Given the description of an element on the screen output the (x, y) to click on. 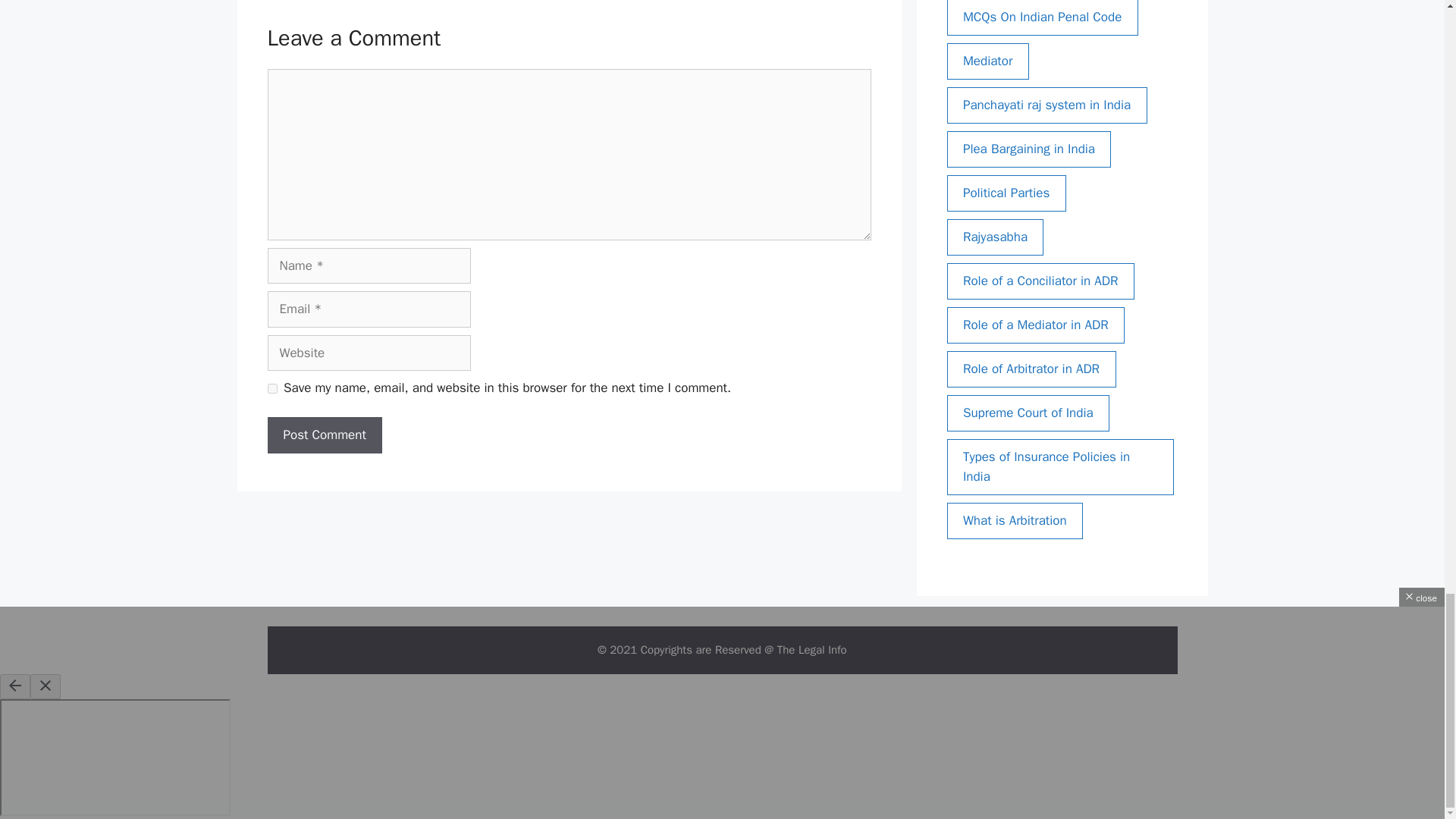
Post Comment (323, 434)
yes (271, 388)
Post Comment (323, 434)
